Given the description of an element on the screen output the (x, y) to click on. 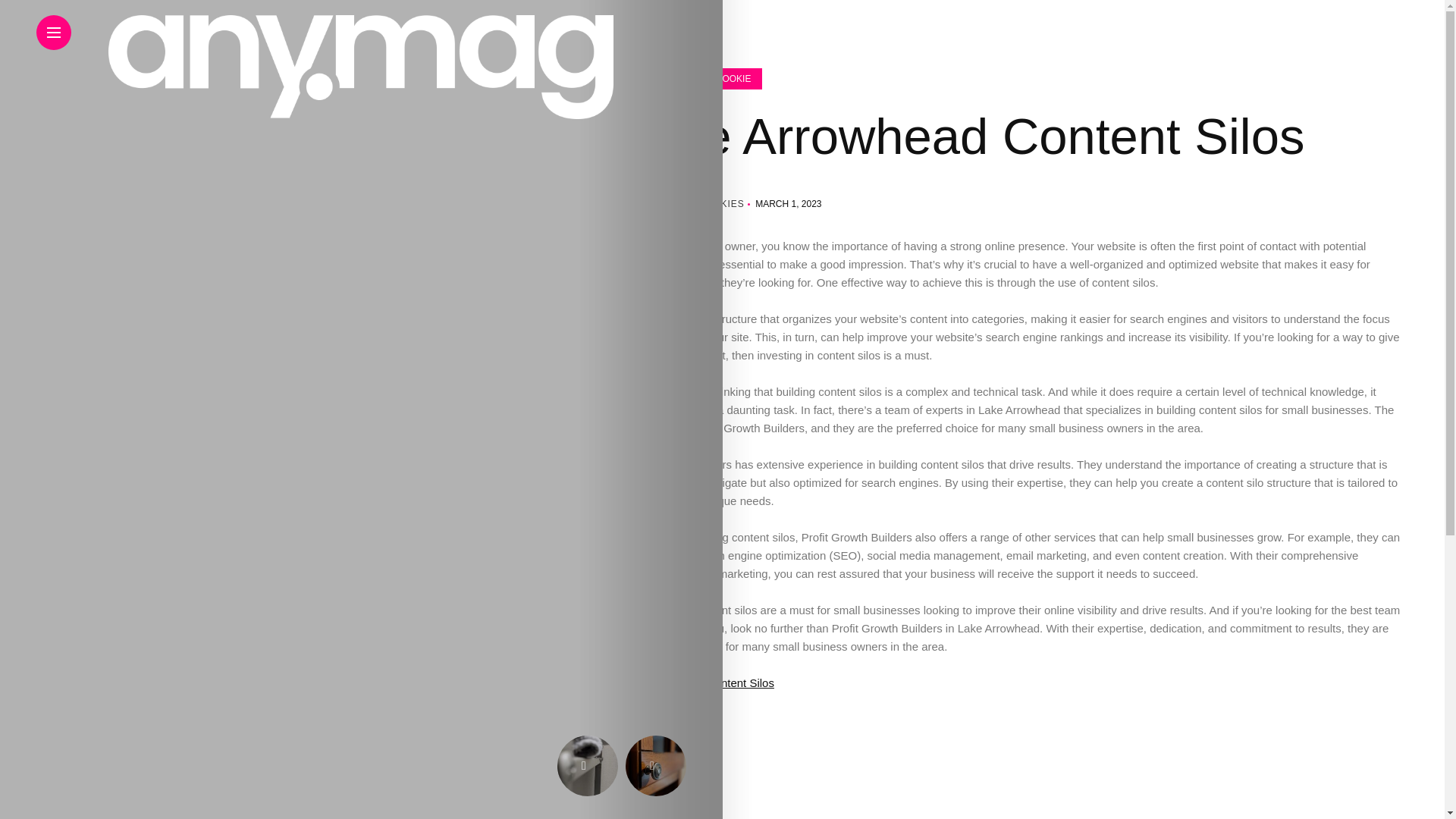
WEYOUZ COOKIES (495, 204)
ANOTHER YUMMY COOKIE (455, 78)
Posts by WeYouz Cookies (696, 204)
Lake Arrowhead Content Silos (553, 682)
